Given the description of an element on the screen output the (x, y) to click on. 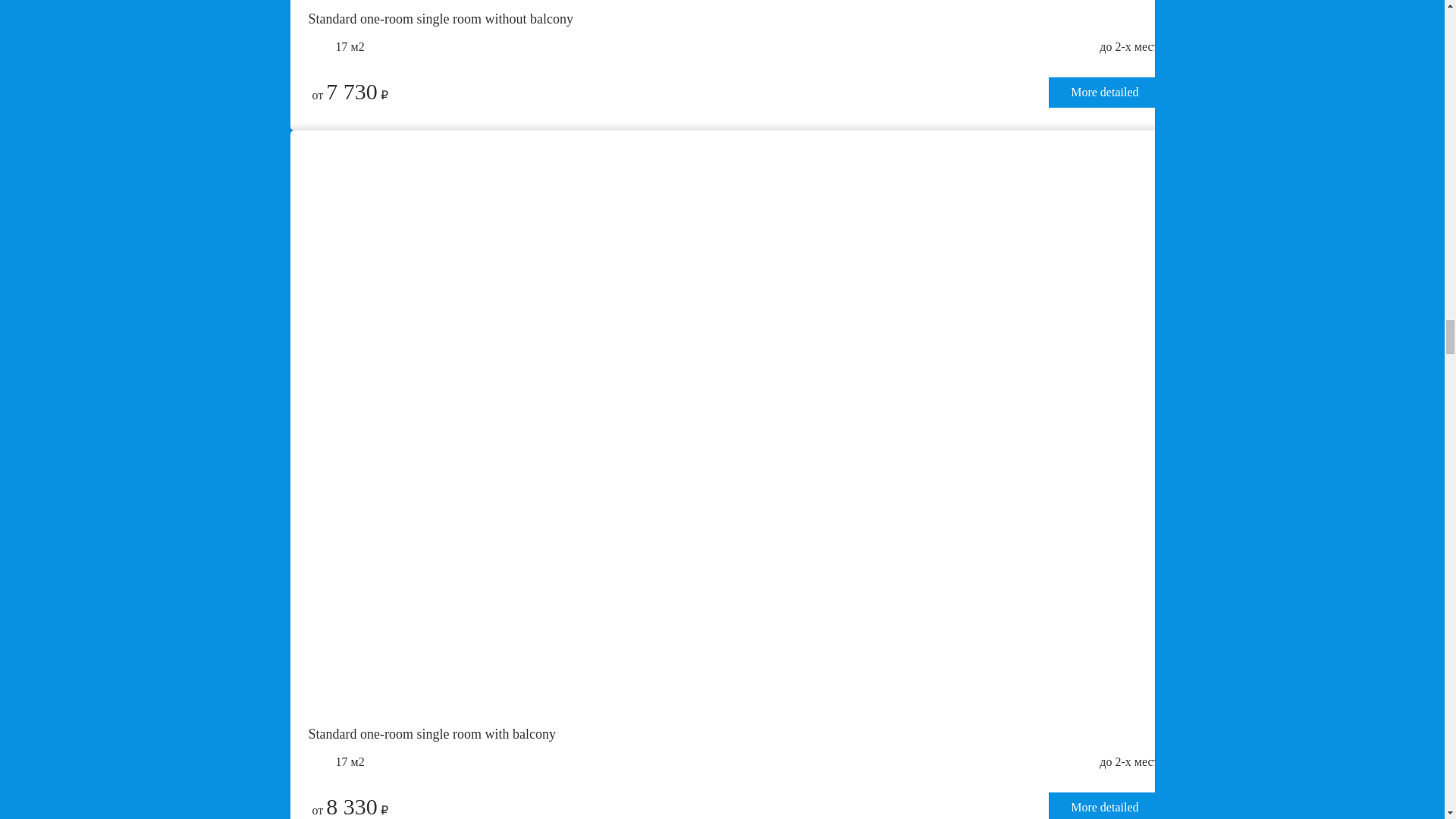
More detailed (1104, 805)
Standard one-room single room with balcony (732, 730)
More detailed (1104, 91)
Standard one-room single room without balcony (732, 19)
